Given the description of an element on the screen output the (x, y) to click on. 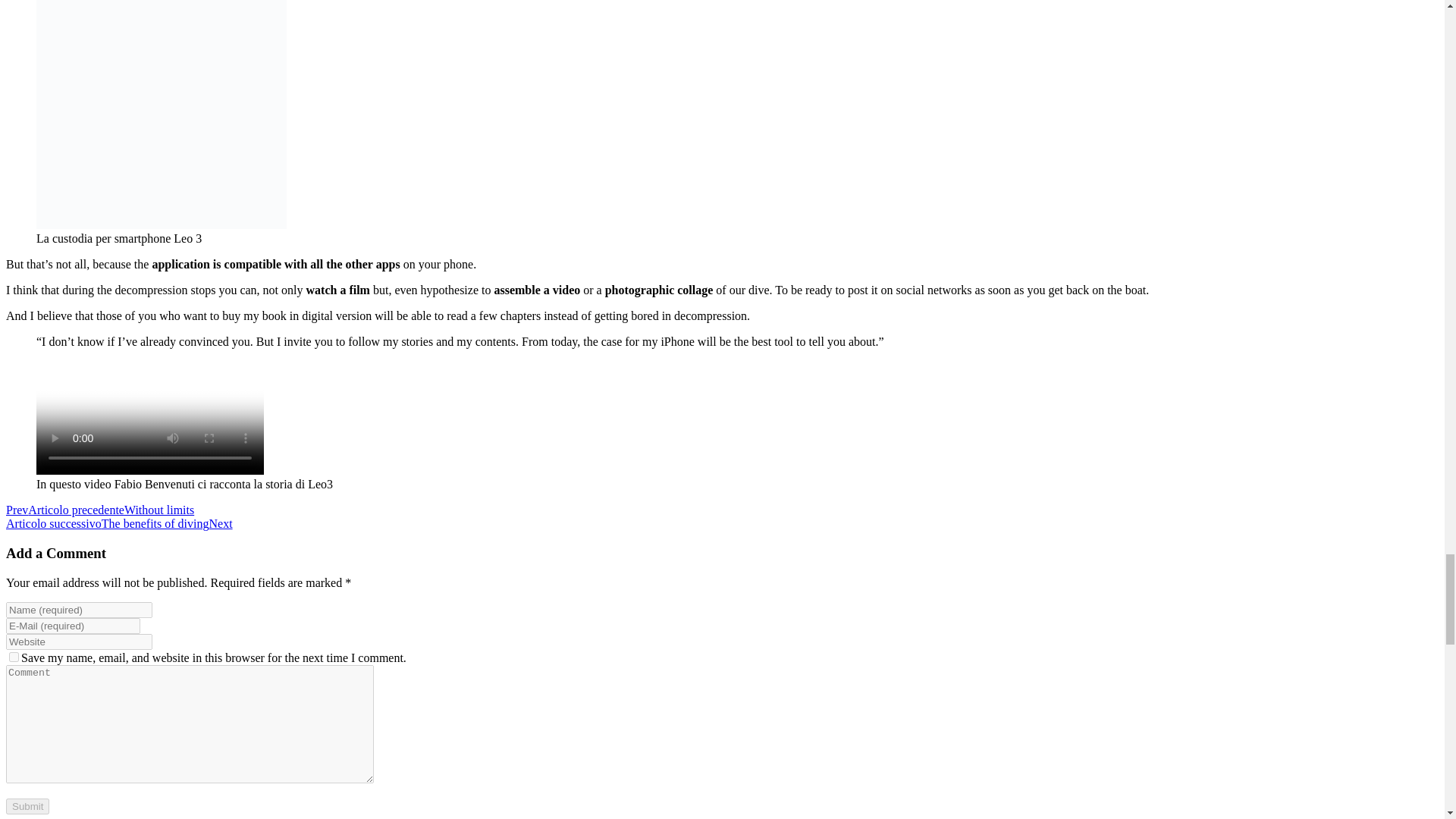
Articolo successivoThe benefits of divingNext (118, 522)
Submit (27, 806)
yes (13, 656)
Submit (27, 806)
PrevArticolo precedenteWithout limits (99, 509)
